Given the description of an element on the screen output the (x, y) to click on. 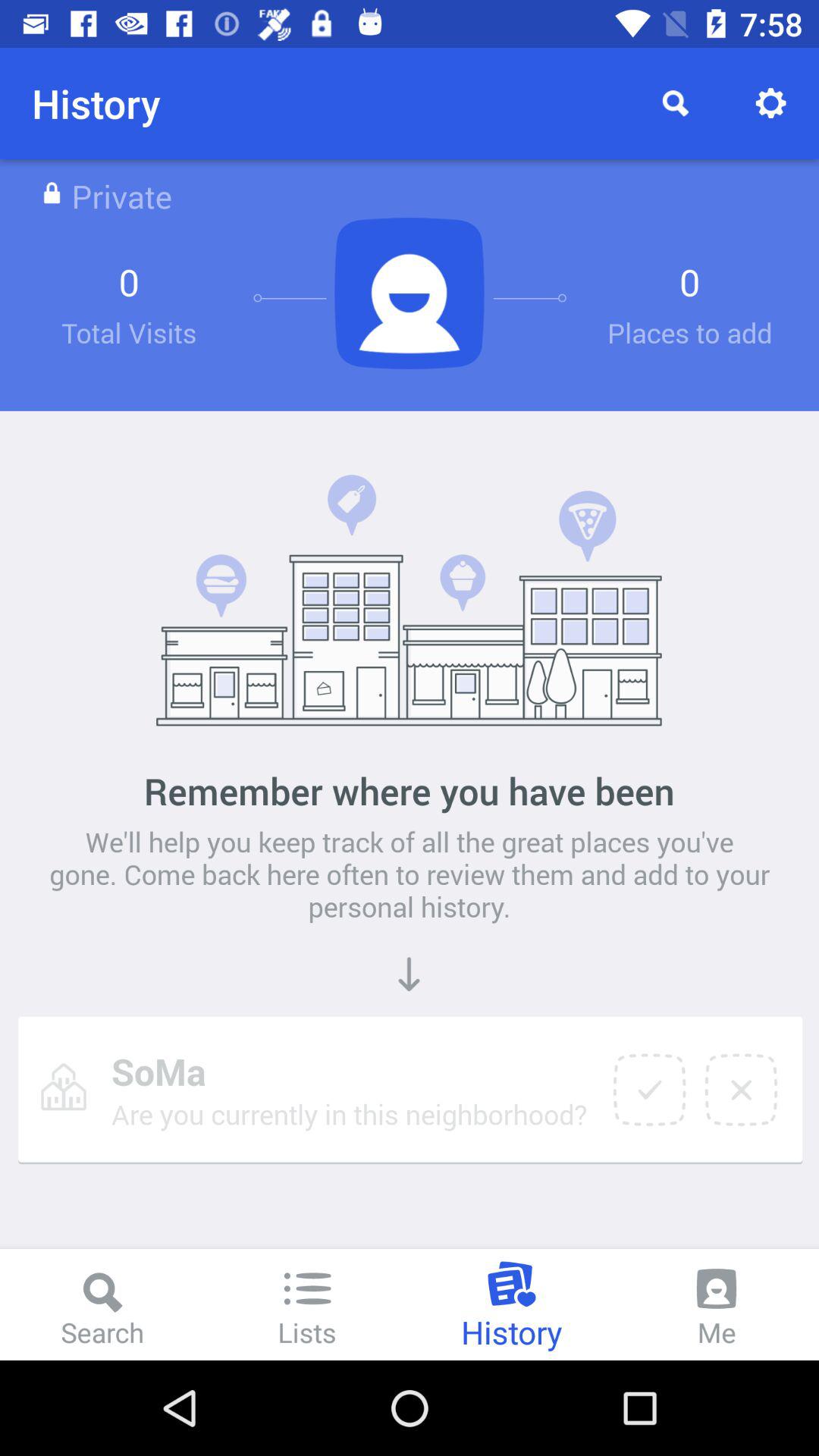
yes (649, 1089)
